Given the description of an element on the screen output the (x, y) to click on. 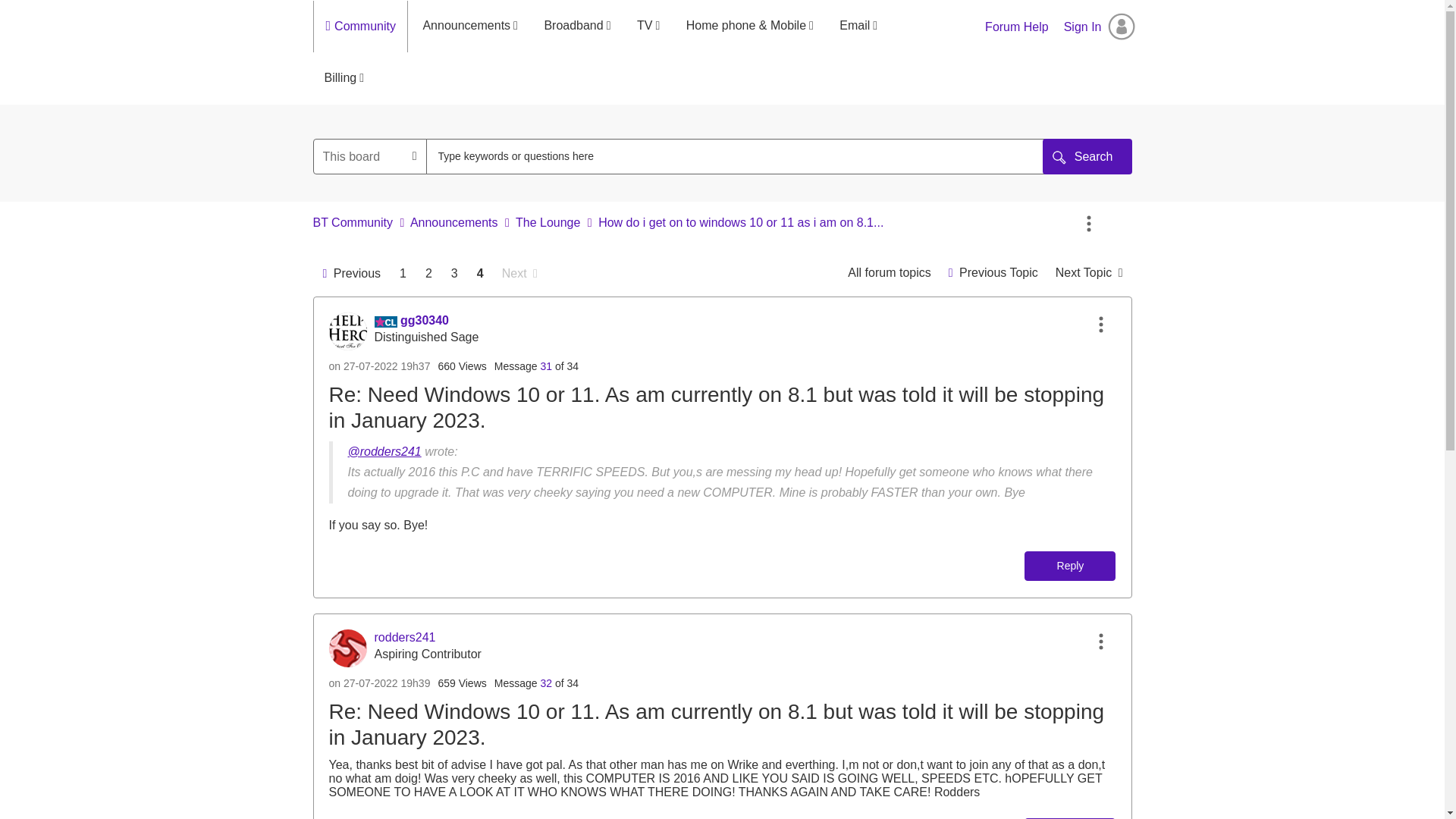
Search (1087, 156)
Forum Help (1016, 26)
The Lounge (888, 272)
Sign In (1099, 26)
Show option menu (1088, 223)
Search (742, 156)
Community (368, 26)
Announcements (469, 25)
Show option menu (1100, 324)
